Given the description of an element on the screen output the (x, y) to click on. 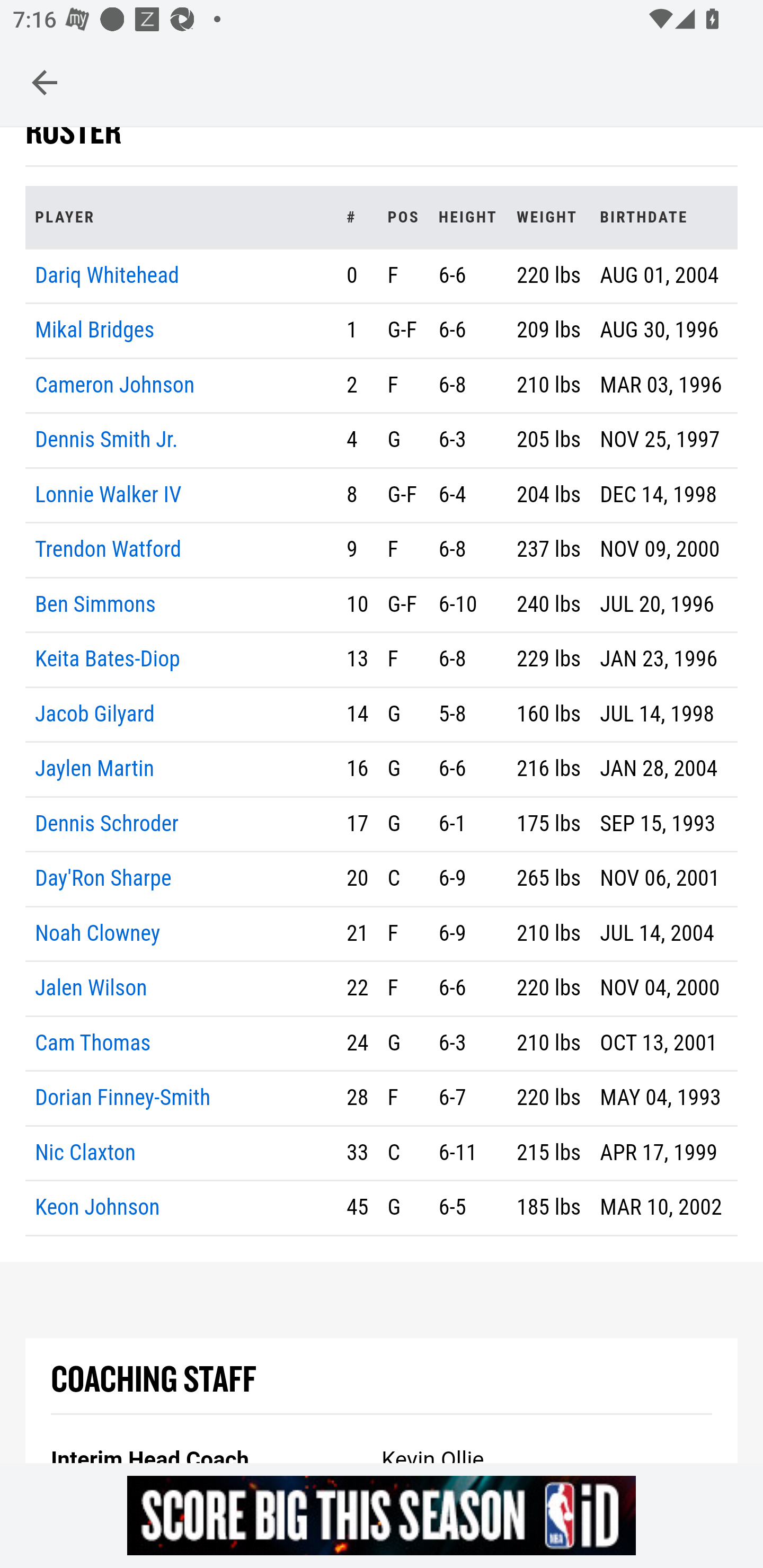
Navigate up (44, 82)
Dariq Whitehead (107, 274)
Mikal Bridges (95, 331)
Cameron Johnson (115, 384)
Dennis Smith Jr. (106, 441)
Lonnie Walker IV (109, 494)
Trendon Watford (109, 550)
Ben Simmons (95, 604)
Keita Bates-Diop (108, 660)
Jacob Gilyard (95, 713)
Jaylen Martin (95, 769)
Dennis Schroder (107, 823)
Day'Ron Sharpe (103, 879)
Noah Clowney (97, 933)
Jalen Wilson (91, 989)
Cam Thomas (93, 1043)
Dorian Finney-Smith (123, 1098)
Nic Claxton (85, 1152)
Keon Johnson (97, 1207)
g5nqqygr7owph (381, 1515)
